Given the description of an element on the screen output the (x, y) to click on. 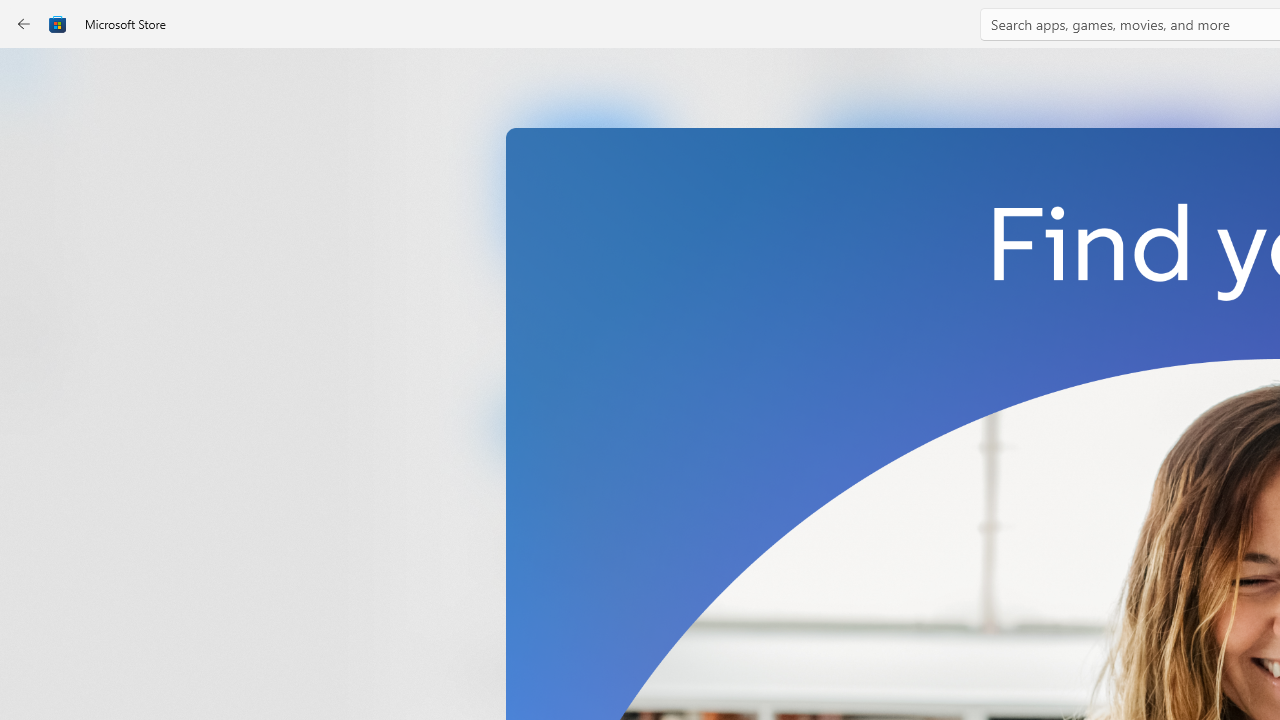
Back (24, 24)
AI Hub (35, 390)
Arcade (35, 265)
Screenshot 1 (1029, 279)
3.9 stars. Click to skip to ratings and reviews (542, 556)
Entertainment (35, 327)
Home (35, 79)
Gaming (35, 203)
Get (586, 424)
LinkedIn (585, 333)
